Given the description of an element on the screen output the (x, y) to click on. 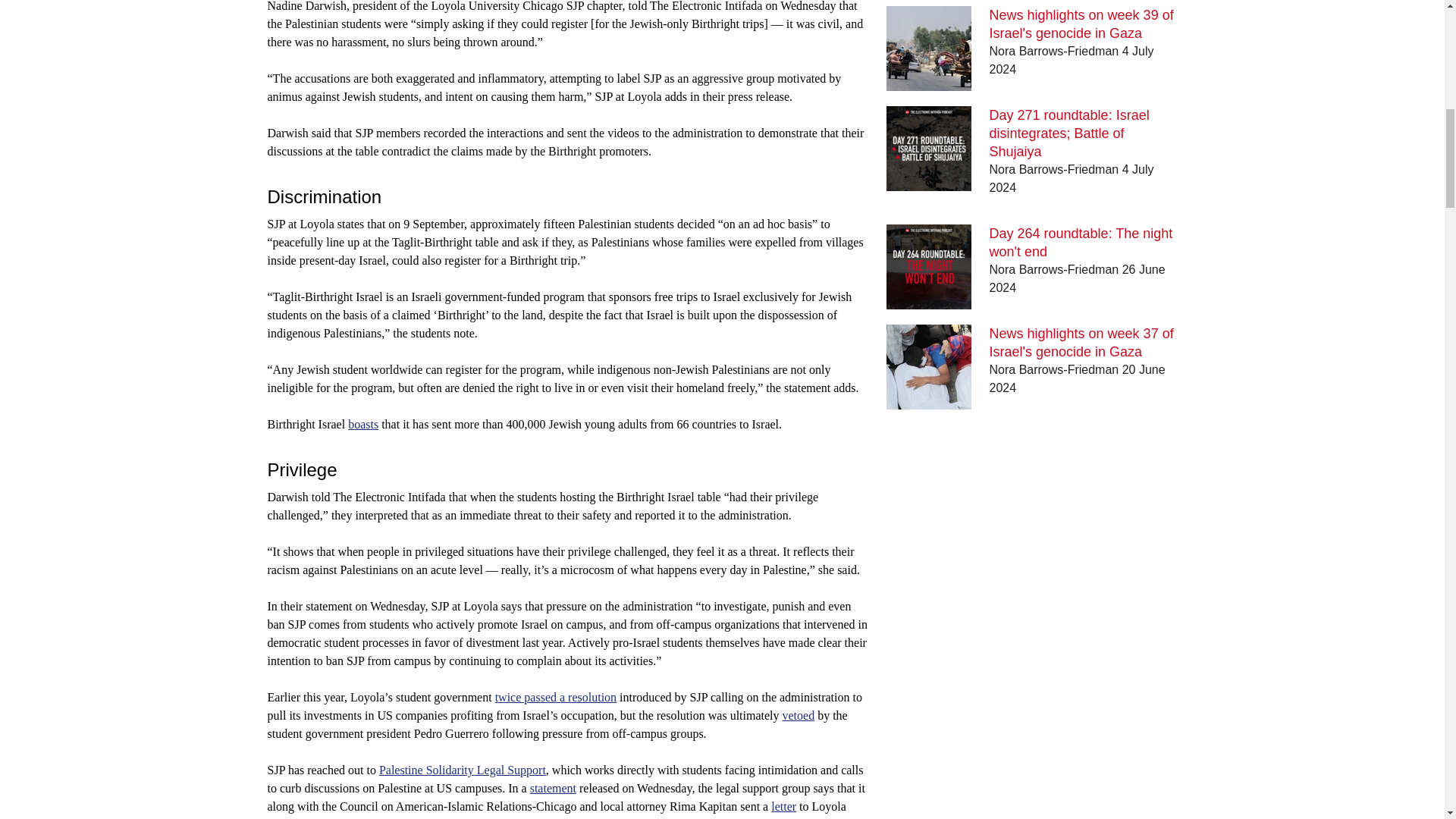
vetoed (799, 715)
letter (783, 806)
Palestine Solidarity Legal Support (462, 769)
twice passed a resolution (555, 697)
boasts (362, 423)
statement (552, 788)
